Given the description of an element on the screen output the (x, y) to click on. 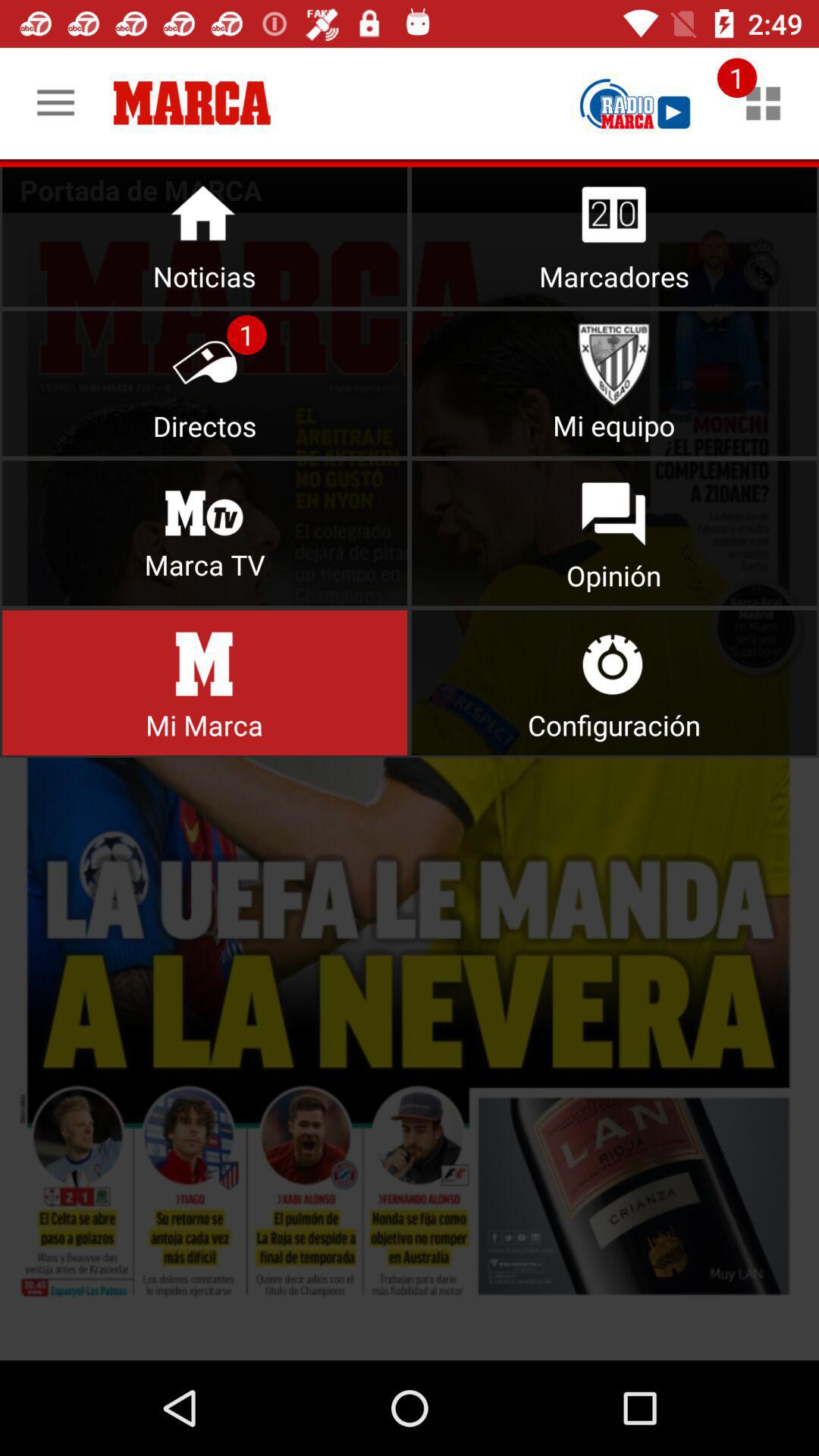
access the 'marca item (204, 682)
